Given the description of an element on the screen output the (x, y) to click on. 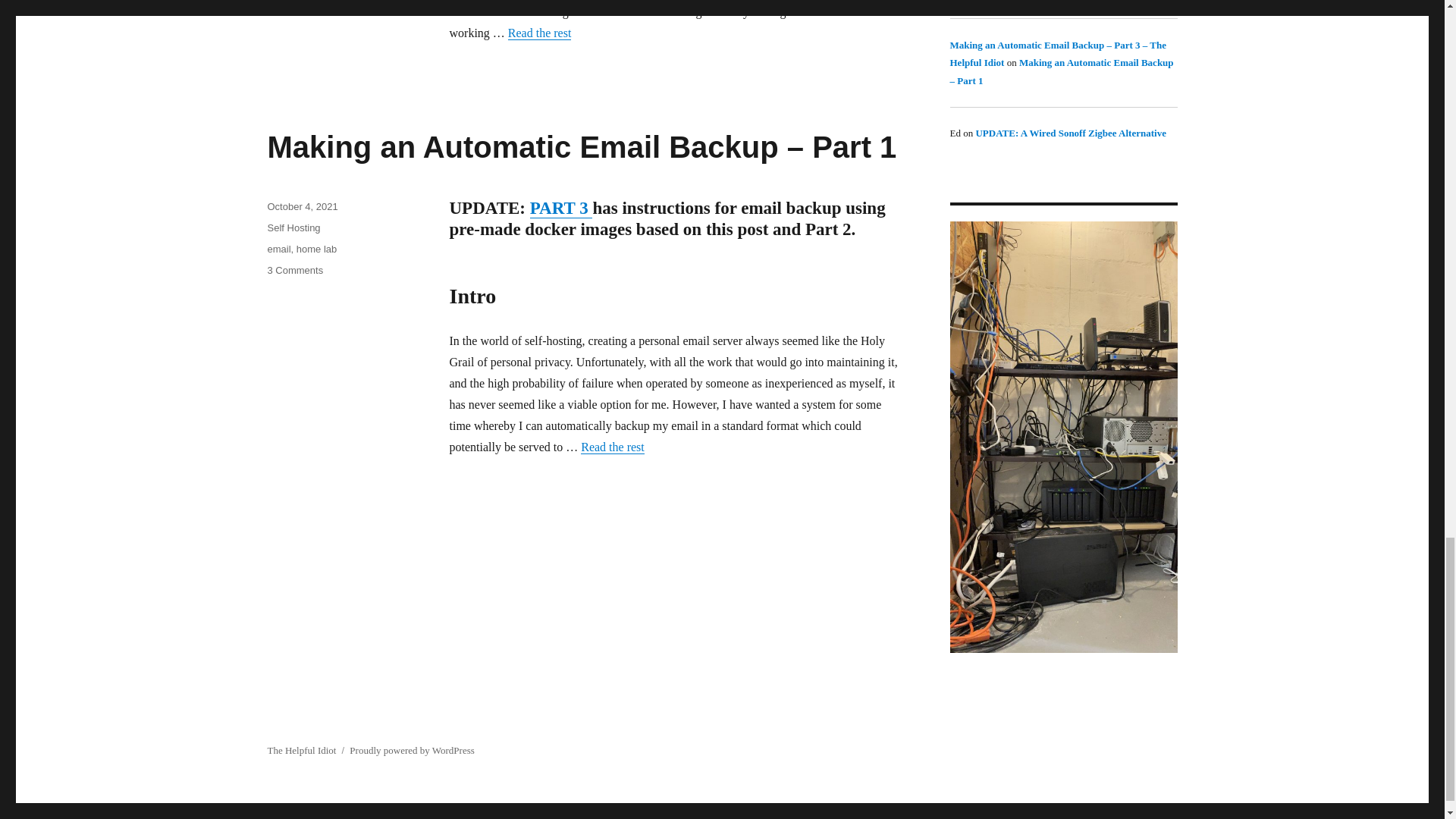
Self Hosting (293, 227)
Read the rest (540, 32)
PART 3 (560, 208)
Read the rest (612, 446)
October 4, 2021 (301, 206)
email (277, 248)
home lab (316, 248)
